Given the description of an element on the screen output the (x, y) to click on. 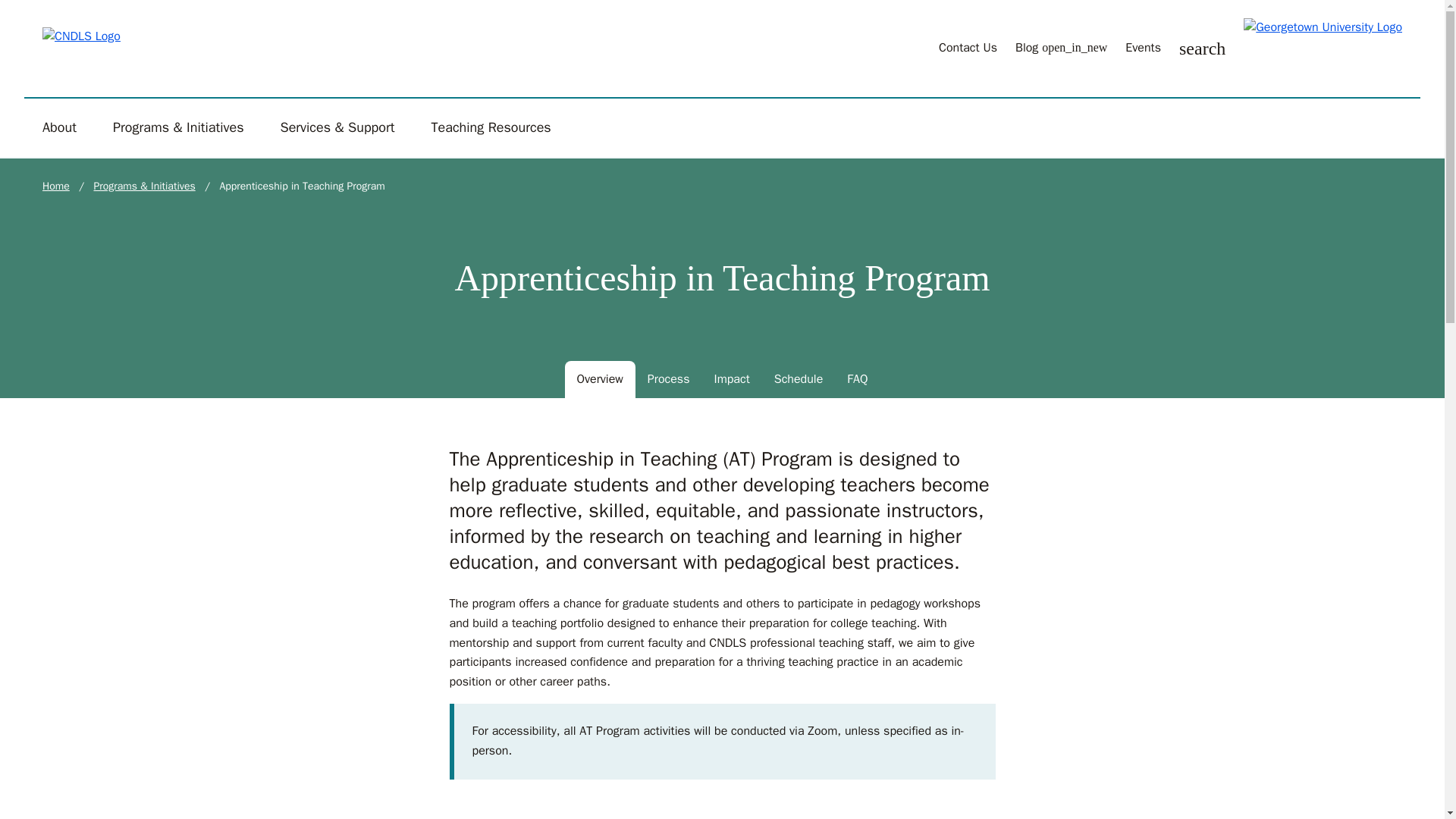
Contact Us (968, 47)
Events (1142, 47)
Teaching Resources (490, 127)
About (59, 127)
search (1202, 48)
